Given the description of an element on the screen output the (x, y) to click on. 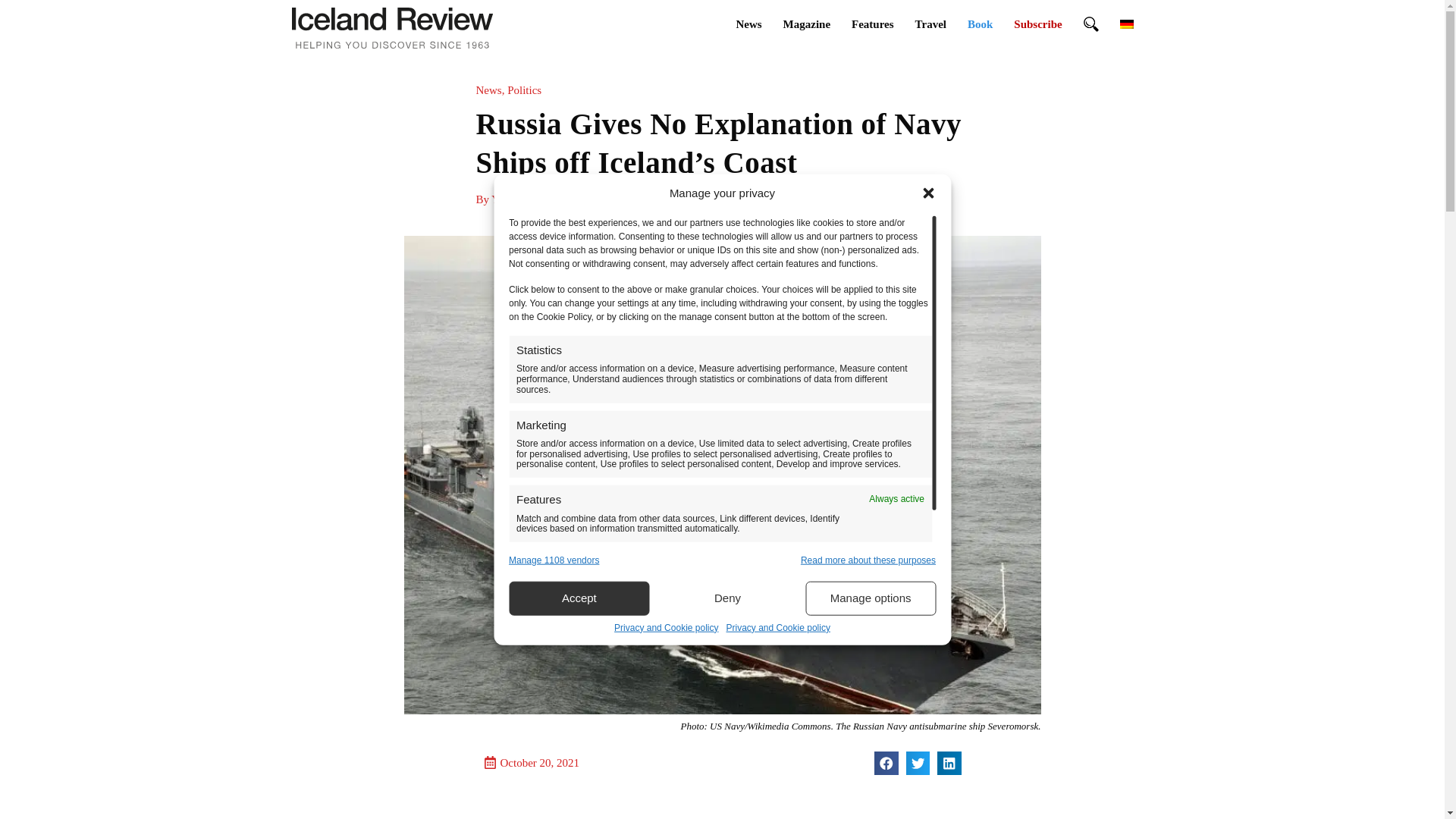
Privacy and Cookie policy (665, 628)
Magazine (807, 23)
Features (872, 23)
Read more about these purposes (868, 561)
Accept (578, 597)
Manage 1108 vendors (553, 561)
Privacy and Cookie policy (777, 628)
Deny (727, 597)
Manage options (870, 597)
News (748, 23)
Travel (930, 23)
